Given the description of an element on the screen output the (x, y) to click on. 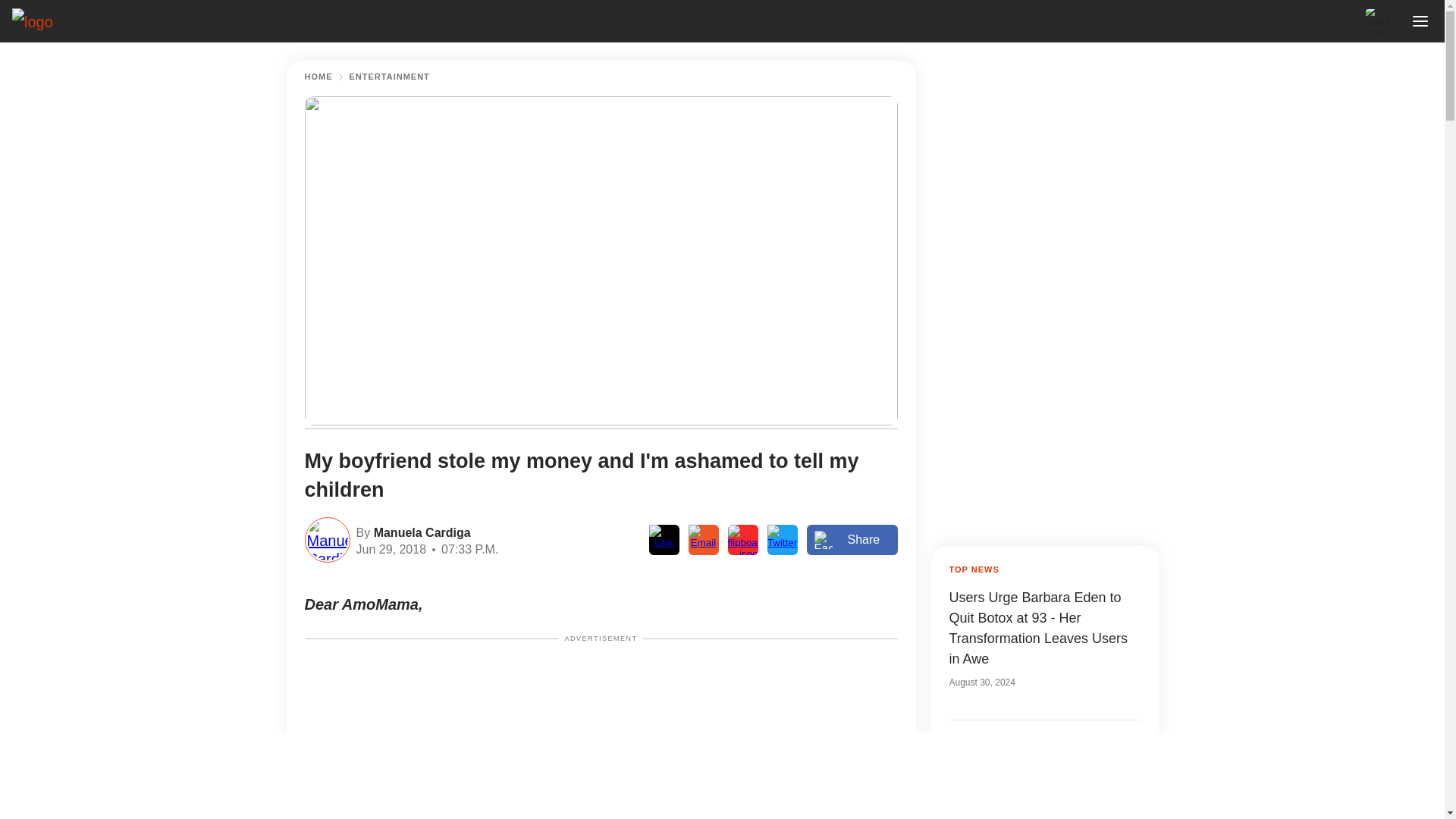
HOME (318, 76)
Manuela Cardiga (419, 531)
ENTERTAINMENT (389, 76)
